Given the description of an element on the screen output the (x, y) to click on. 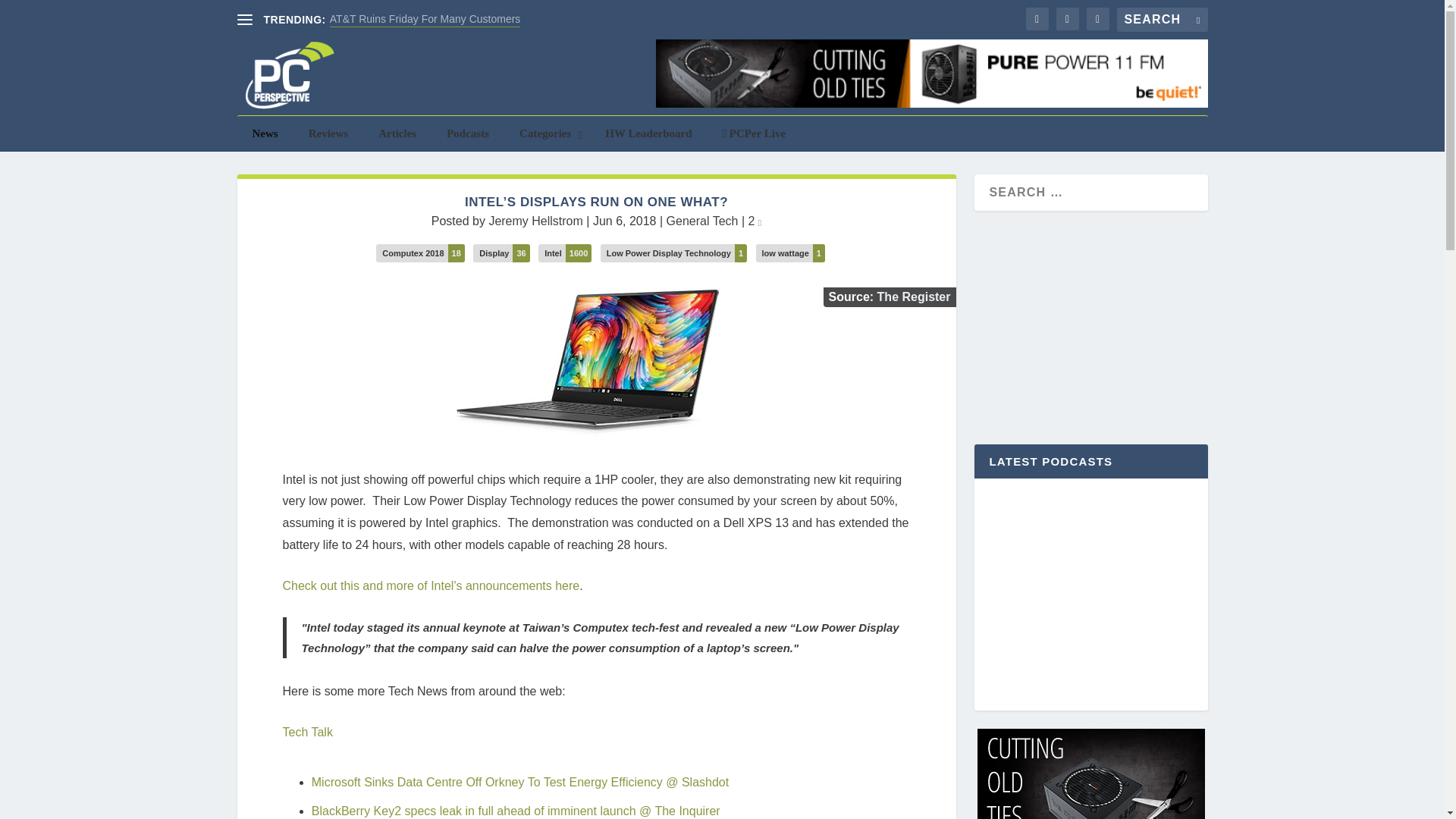
Categories (546, 133)
HW Leaderboard (647, 133)
Posts by Jeremy Hellstrom (534, 220)
News (263, 133)
Search for: (1161, 19)
Articles (396, 133)
PCPer Live (754, 133)
Reviews (329, 133)
Podcasts (466, 133)
